Given the description of an element on the screen output the (x, y) to click on. 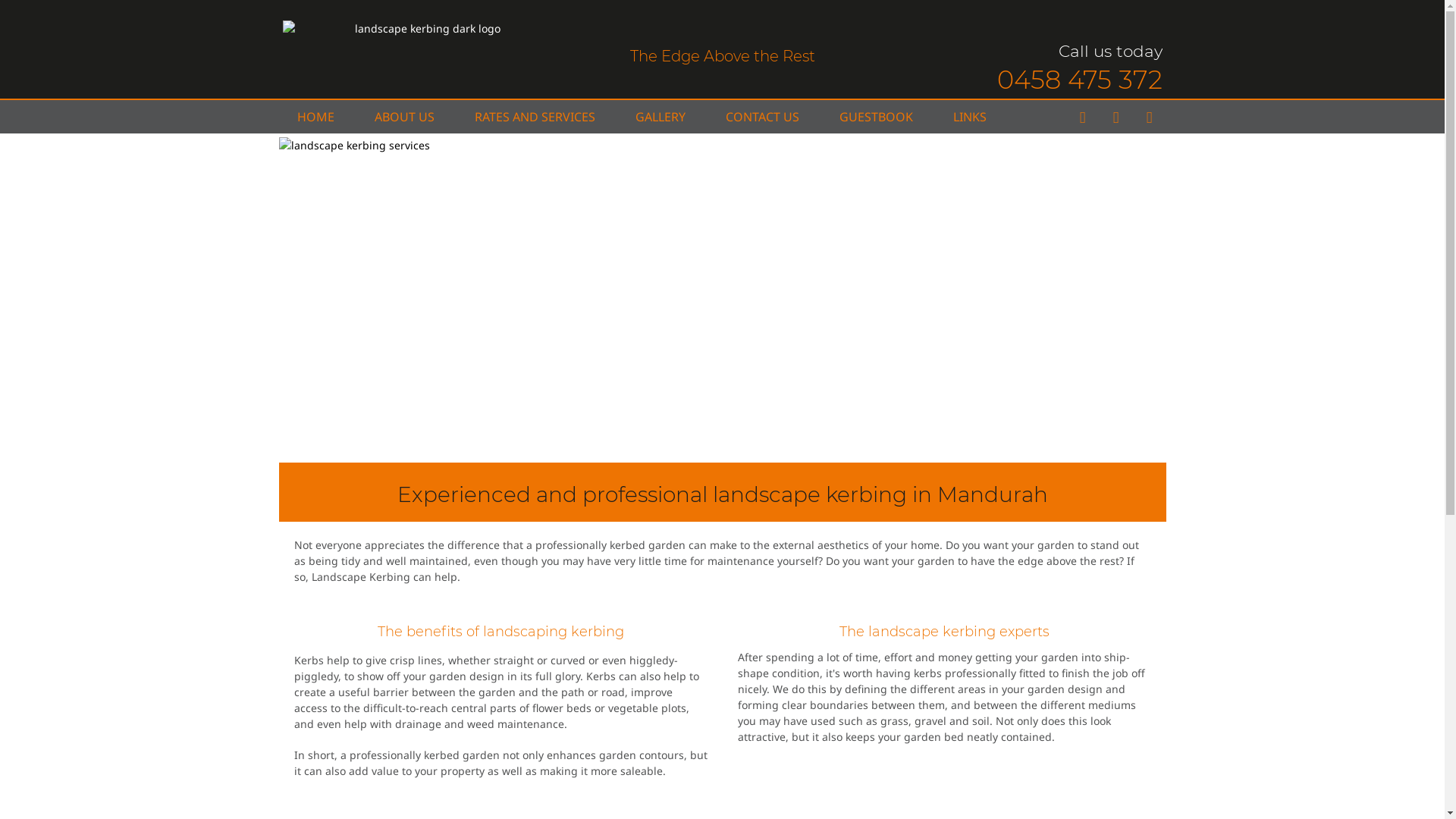
landscape kerbing  dark logo Element type: hover (421, 28)
0458 475 372 Element type: text (1078, 78)
HOME Element type: text (315, 116)
RATES AND SERVICES Element type: text (534, 116)
CONTACT US Element type: text (761, 116)
GUESTBOOK Element type: text (875, 116)
landscape kerbing services Element type: hover (722, 299)
ABOUT US Element type: text (404, 116)
GALLERY Element type: text (660, 116)
LINKS Element type: text (968, 116)
